Given the description of an element on the screen output the (x, y) to click on. 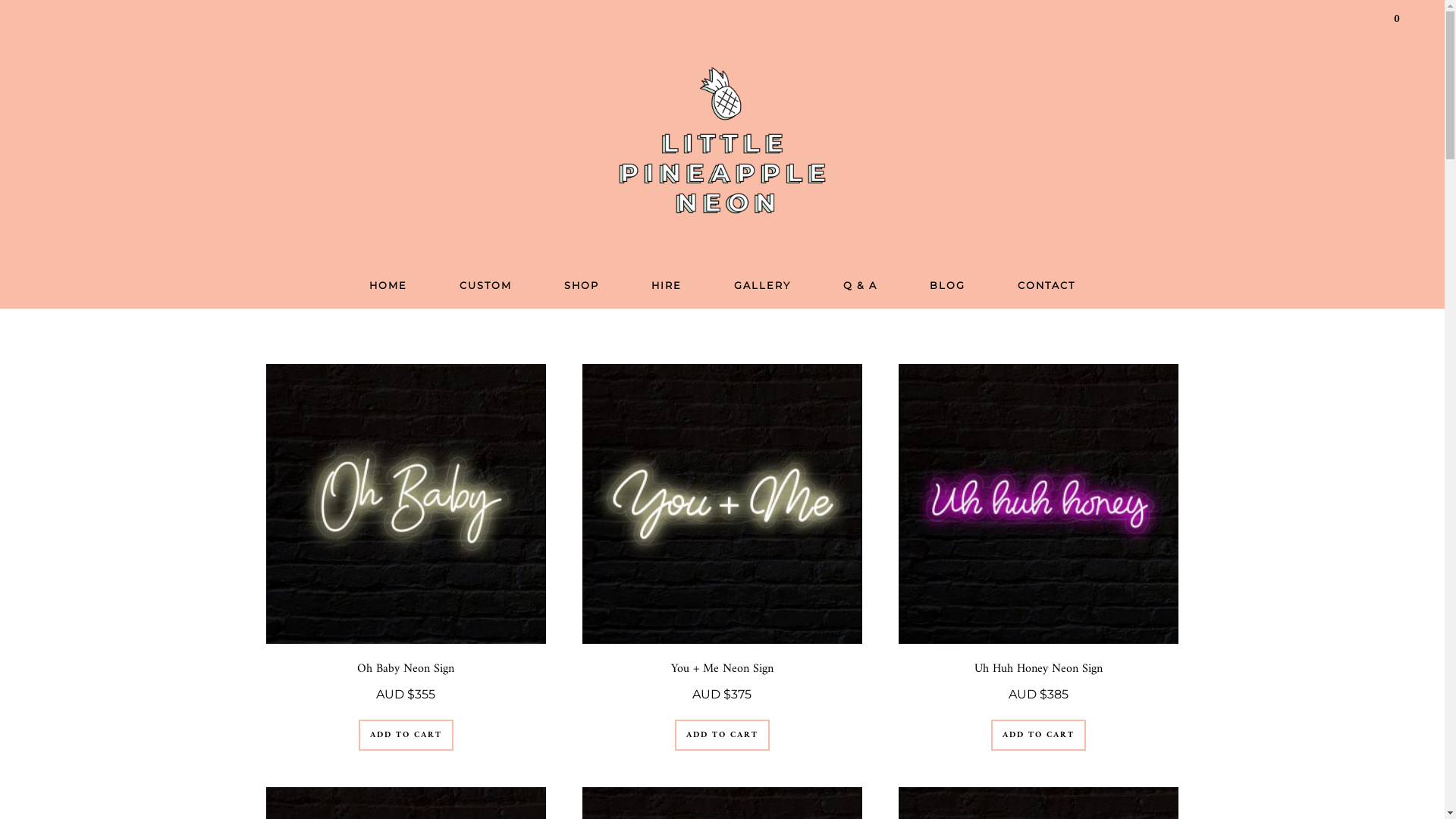
BLOG Element type: text (947, 286)
0 Element type: text (1397, 19)
CUSTOM Element type: text (485, 286)
Oh Baby Neon Sign
AUD $355 Element type: text (405, 551)
CONTACT Element type: text (1046, 286)
You + Me Neon Sign
AUD $375 Element type: text (722, 551)
ADD TO CART Element type: text (721, 734)
Q & A Element type: text (860, 286)
GALLERY Element type: text (762, 286)
SHOP Element type: text (581, 286)
HOME Element type: text (388, 286)
ADD TO CART Element type: text (405, 734)
ADD TO CART Element type: text (1038, 734)
Uh Huh Honey Neon Sign
AUD $385 Element type: text (1038, 551)
HIRE Element type: text (666, 286)
